Given the description of an element on the screen output the (x, y) to click on. 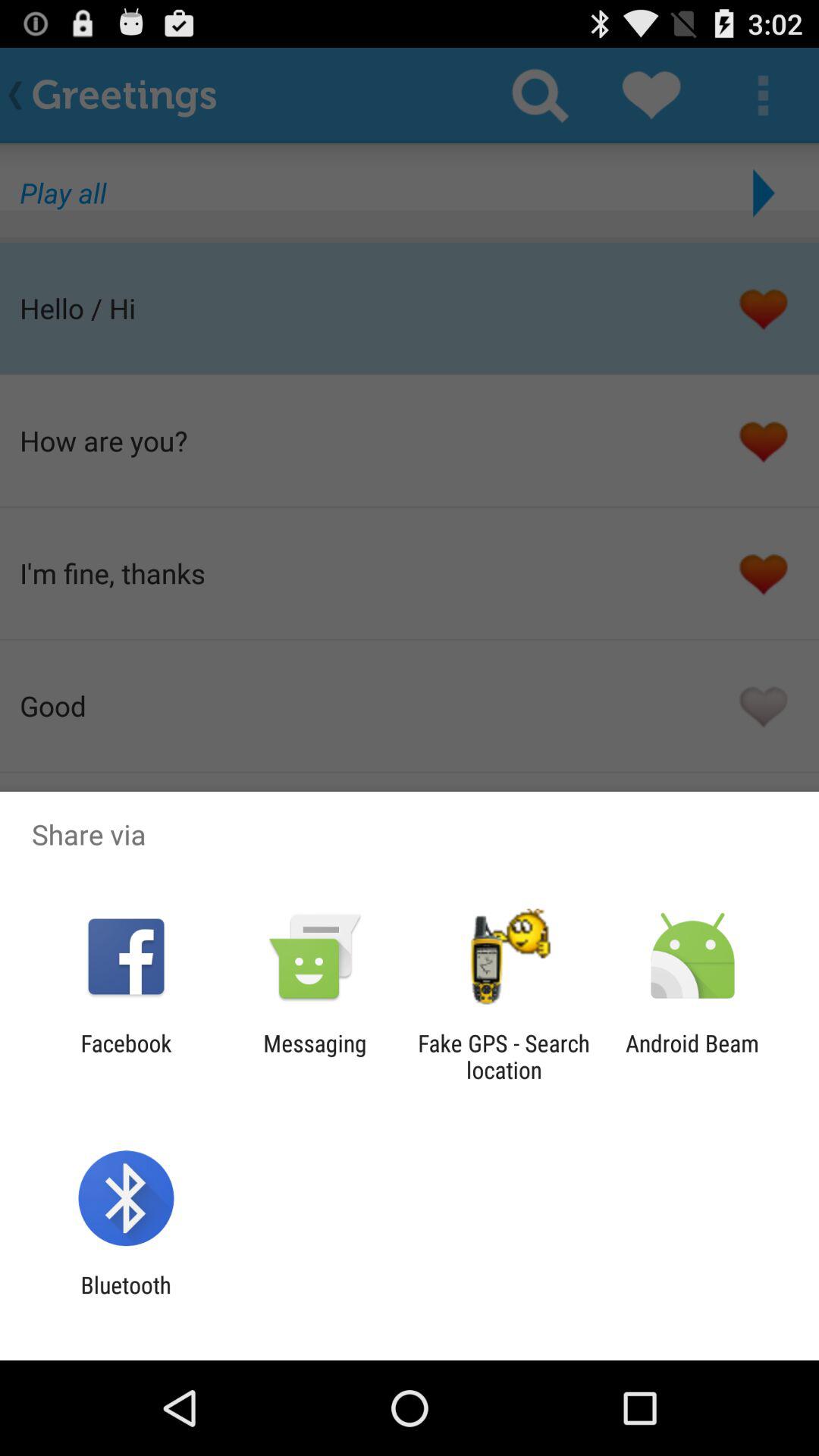
choose item next to the messaging (503, 1056)
